Given the description of an element on the screen output the (x, y) to click on. 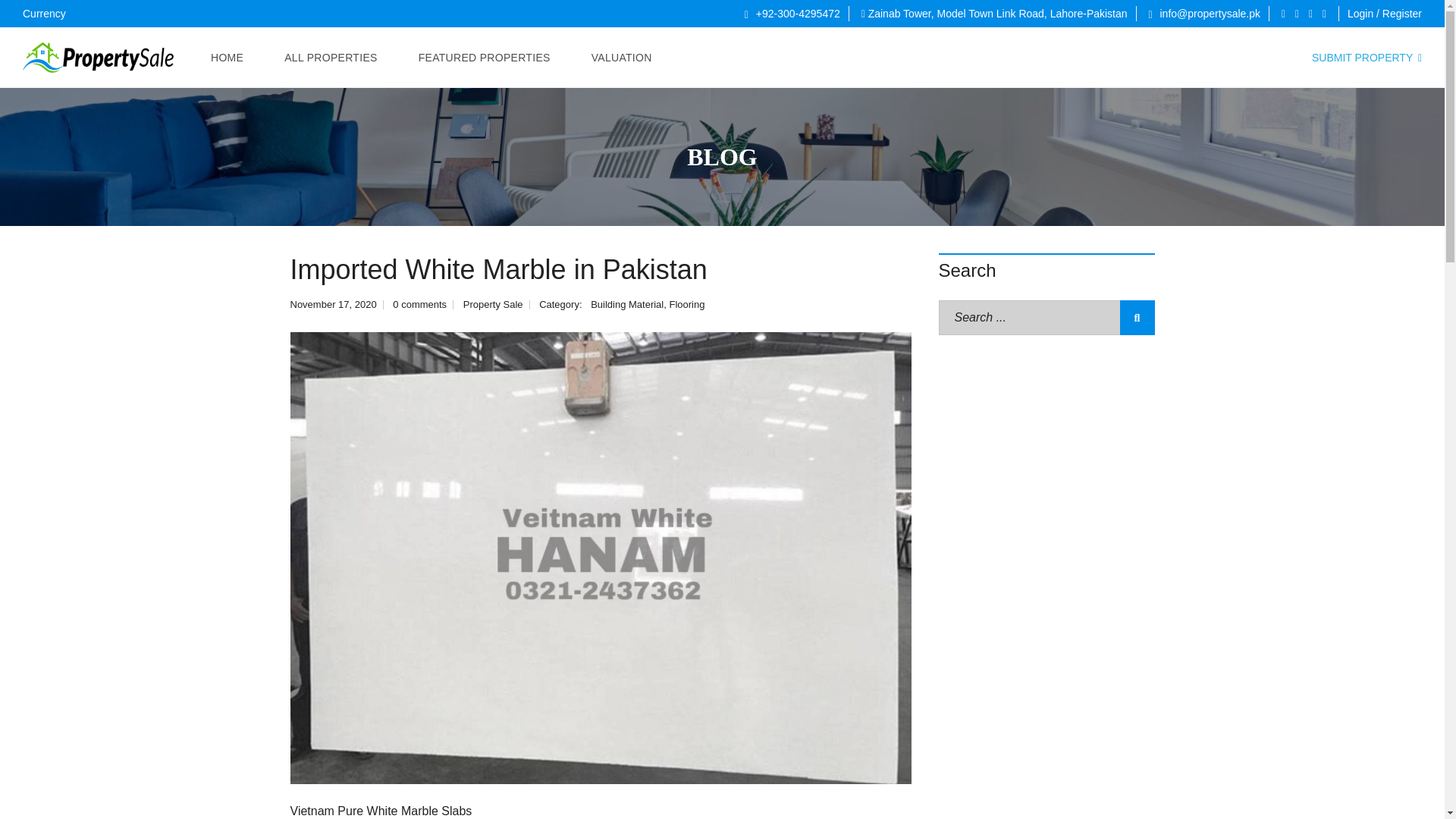
VALUATION (621, 57)
ALL PROPERTIES (330, 57)
Building Material (627, 304)
FEATURED PROPERTIES (484, 57)
0 comments (419, 304)
Property Sale (98, 57)
Flooring (686, 304)
Submit property (1366, 57)
SUBMIT PROPERTY (1366, 57)
